Given the description of an element on the screen output the (x, y) to click on. 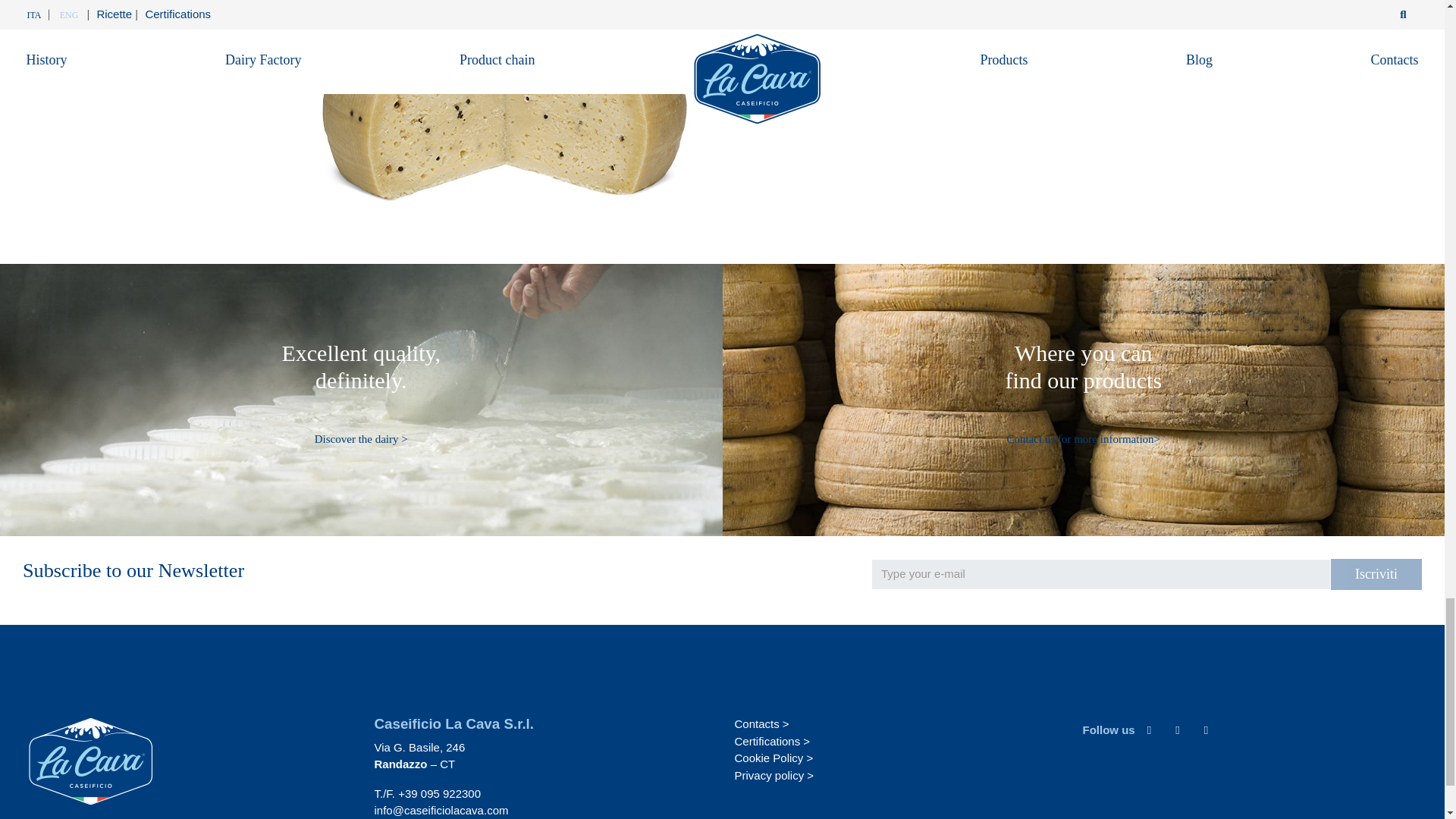
Linkedin (1206, 730)
Instagram (1177, 730)
Facebook (1149, 730)
Iscriviti (1376, 573)
